Given the description of an element on the screen output the (x, y) to click on. 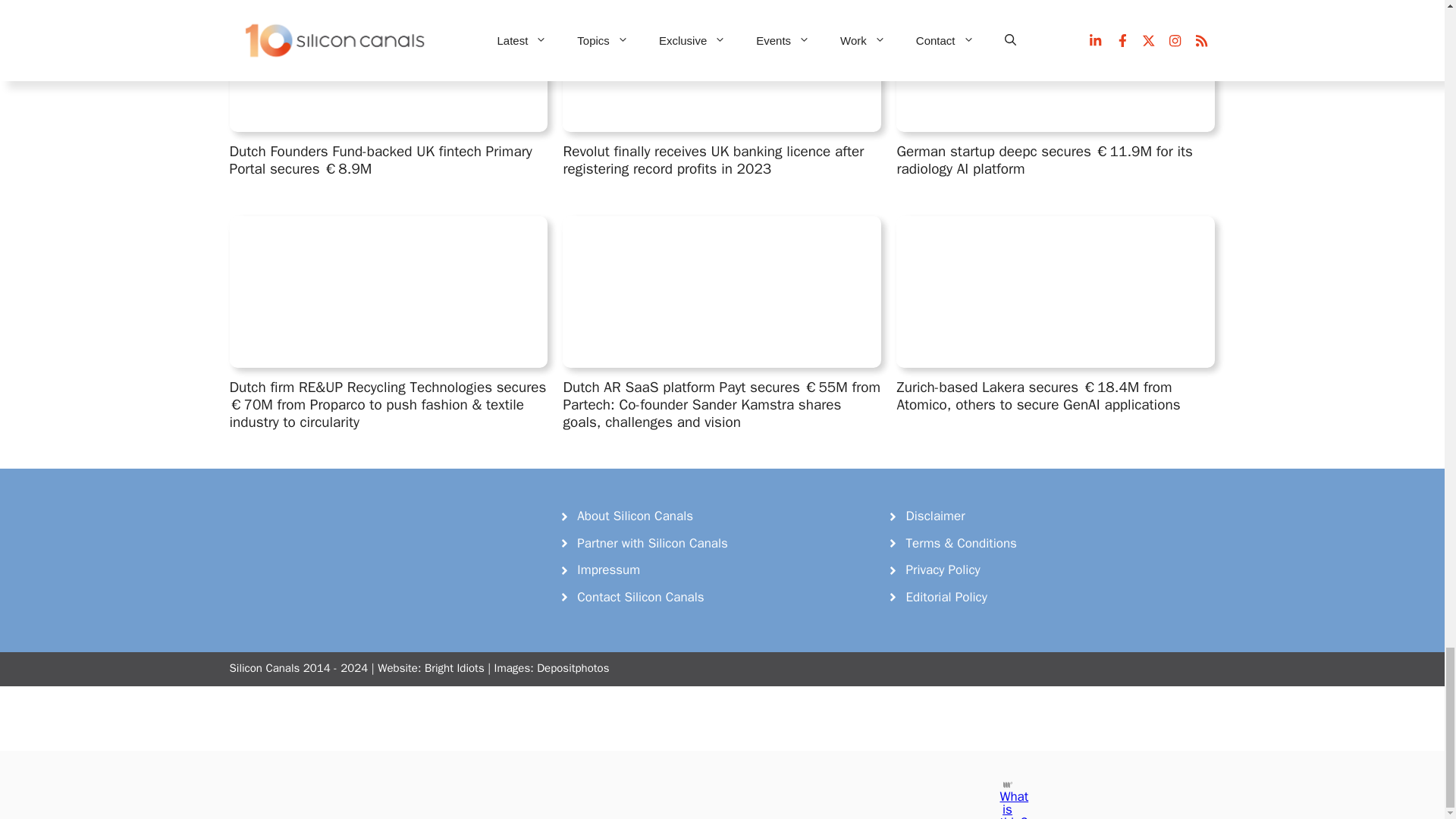
Silicon Canals logo white SC (342, 536)
